Given the description of an element on the screen output the (x, y) to click on. 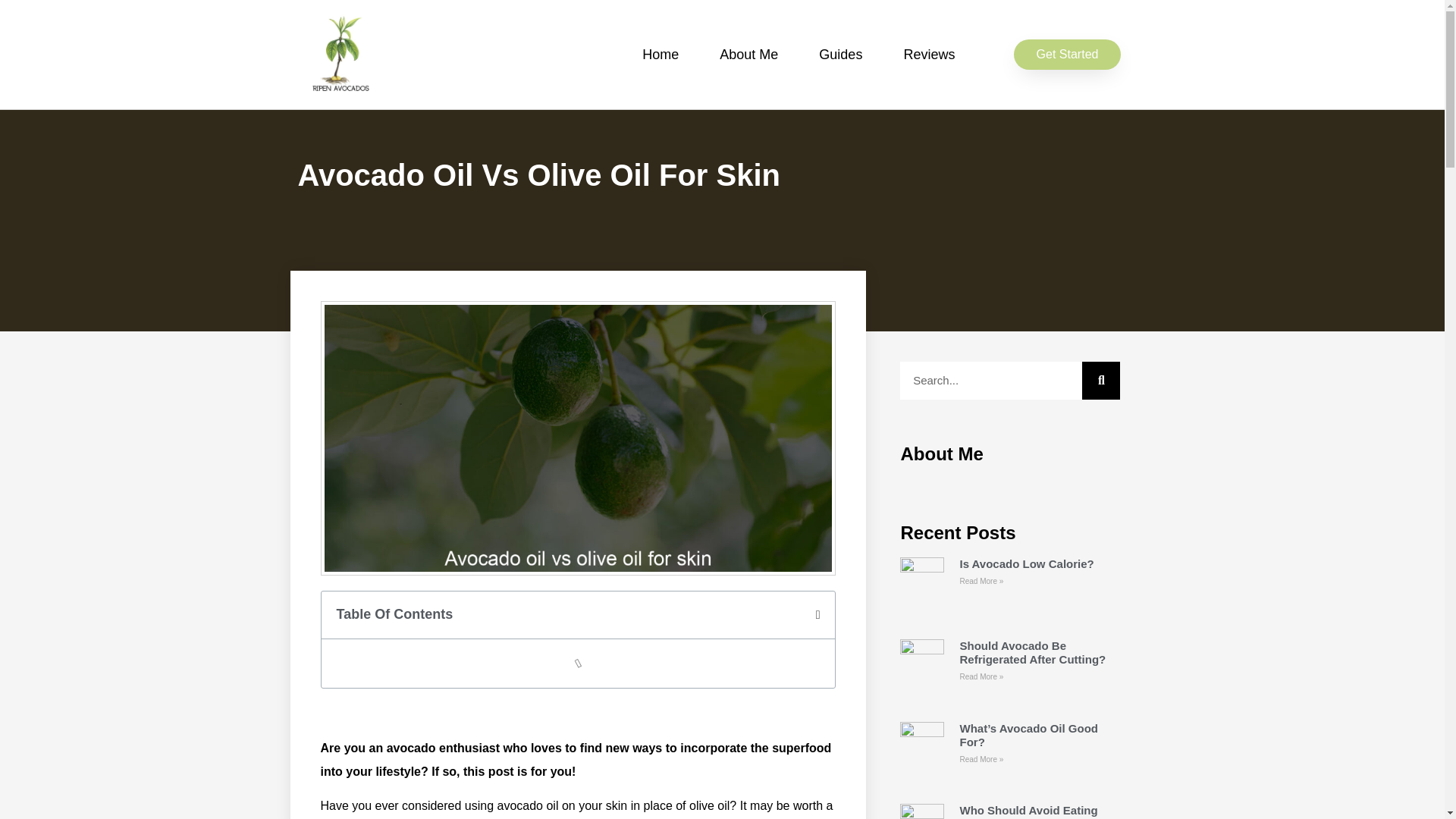
Guides (839, 54)
About Me (747, 54)
Is Avocado Low Calorie? (1026, 563)
Search (1100, 380)
Home (659, 54)
Get Started (1067, 54)
Search (990, 380)
Should Avocado Be Refrigerated After Cutting? (1032, 652)
Reviews (928, 54)
